Given the description of an element on the screen output the (x, y) to click on. 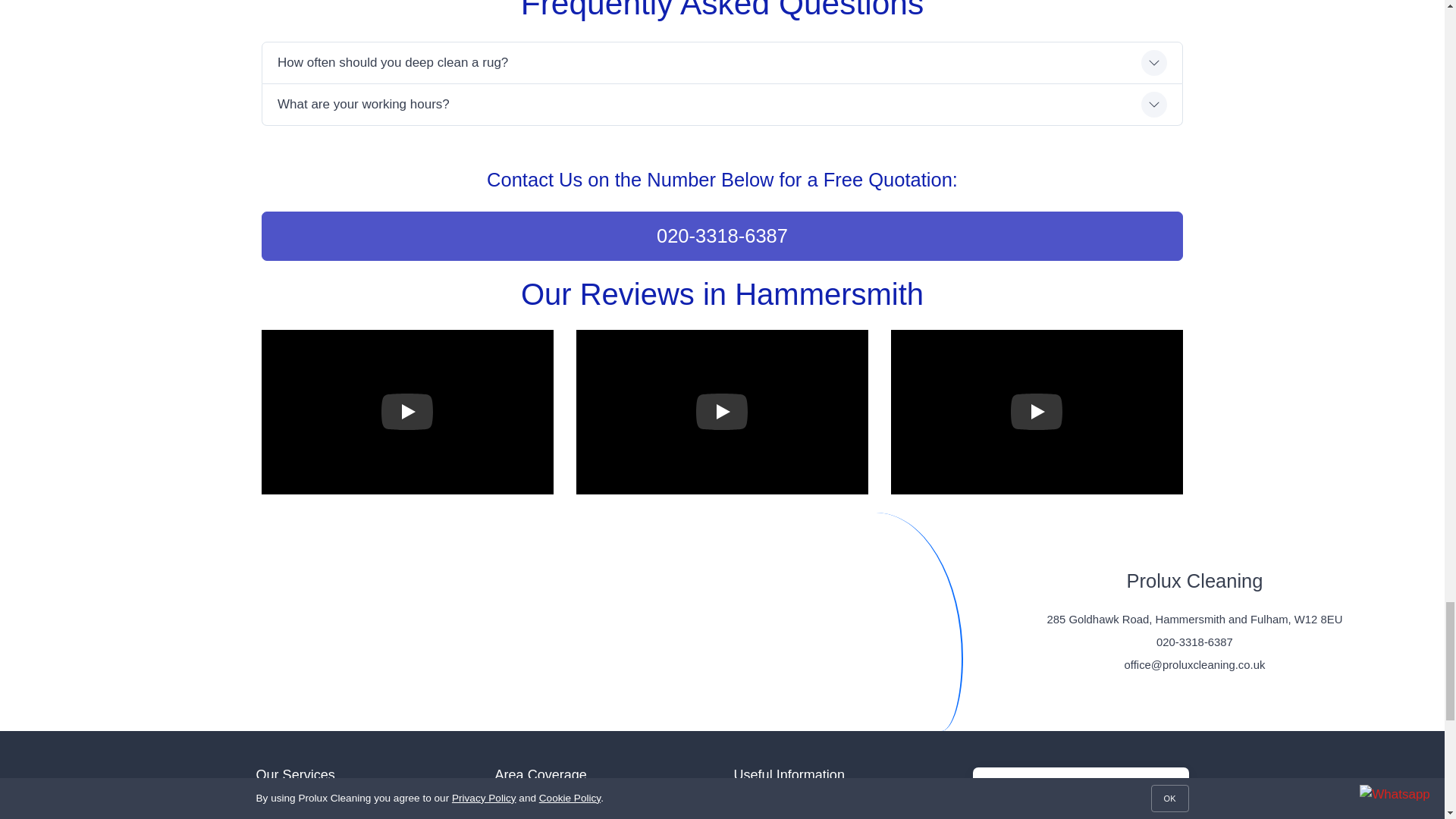
How often should you deep clean a rug? (722, 62)
What are your working hours? (722, 104)
Carpet Cleaning (363, 805)
020-3318-6387 (1194, 641)
Testimonials 2 Prolux Cleaning (406, 411)
Testimonials 4 Prolux Cleaning (1036, 411)
Testimonials 5 Prolux Cleaning (721, 411)
020-3318-6387 (722, 235)
West London (602, 805)
